Given the description of an element on the screen output the (x, y) to click on. 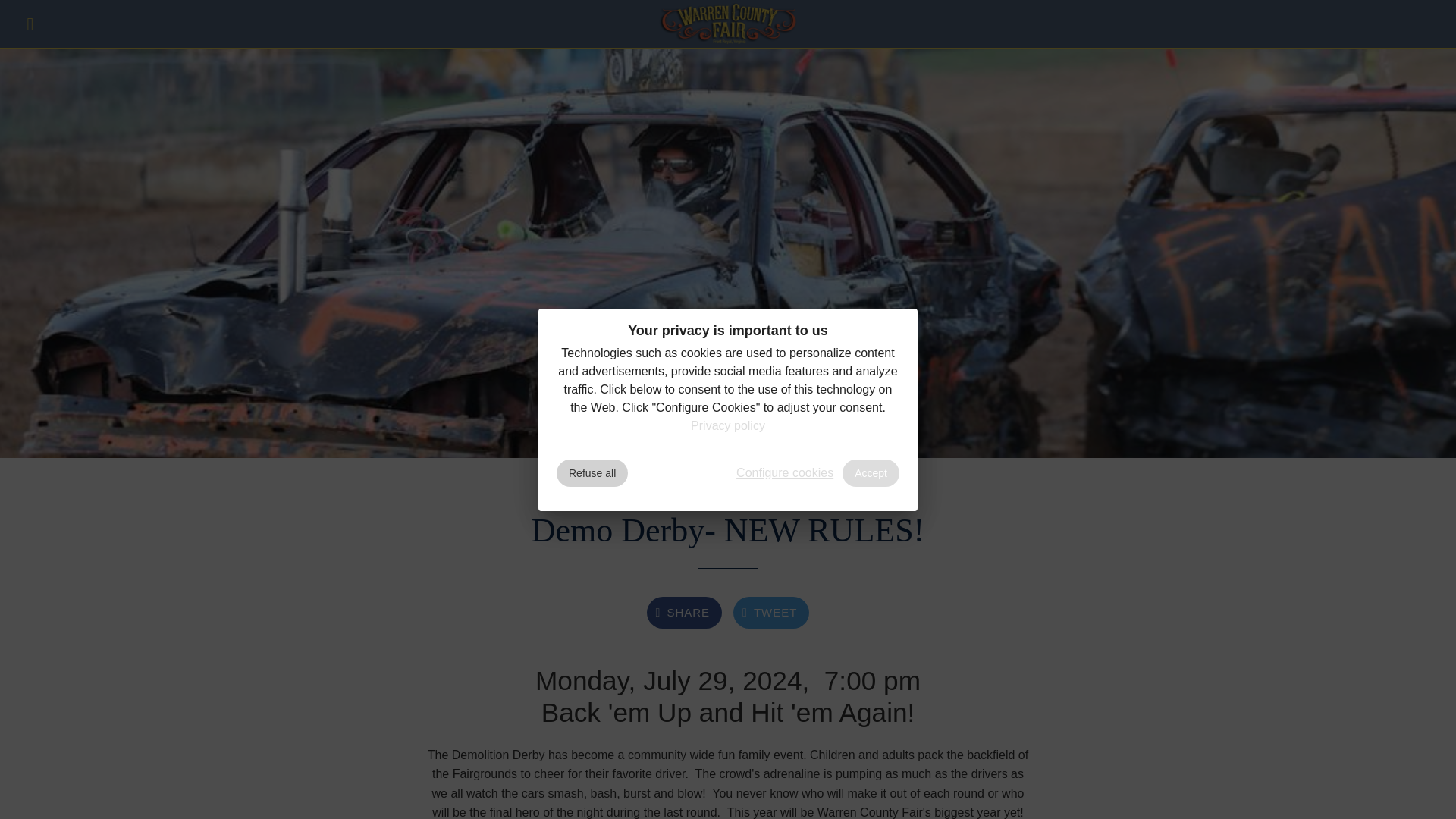
SHARE (684, 612)
Demo Derby- NEW RULES! (727, 24)
Accept (871, 472)
Privacy policy (727, 424)
TWEET (771, 612)
Refuse all (591, 472)
Configure cookies (784, 472)
